Given the description of an element on the screen output the (x, y) to click on. 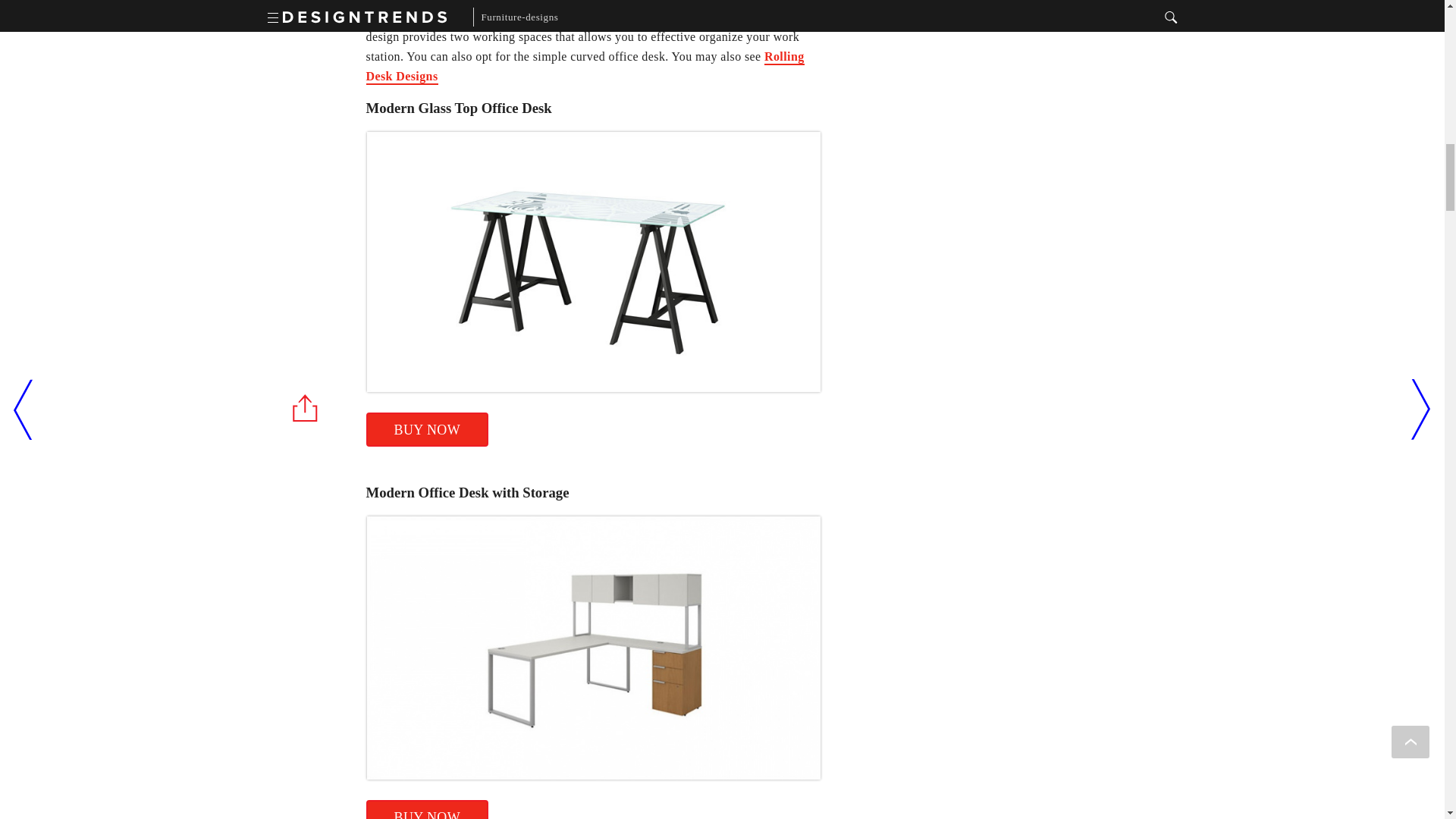
BUY NOW (426, 809)
Rolling Desk Designs (584, 67)
BUY NOW (426, 429)
